Given the description of an element on the screen output the (x, y) to click on. 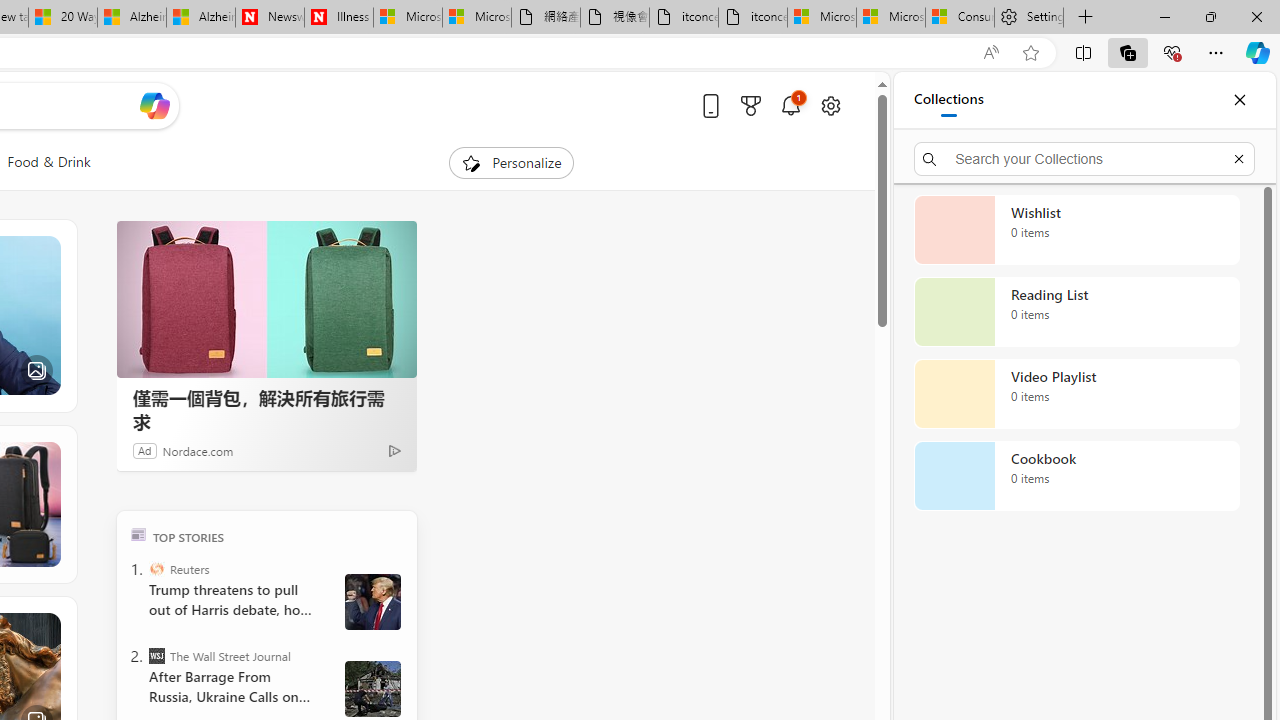
20 Ways to Boost Your Protein Intake at Every Meal (63, 17)
Personalize (511, 162)
Search your Collections (1084, 158)
Food & Drink (48, 162)
TOP (138, 534)
Newsweek - News, Analysis, Politics, Business, Technology (269, 17)
Consumer Health Data Privacy Policy (959, 17)
